Given the description of an element on the screen output the (x, y) to click on. 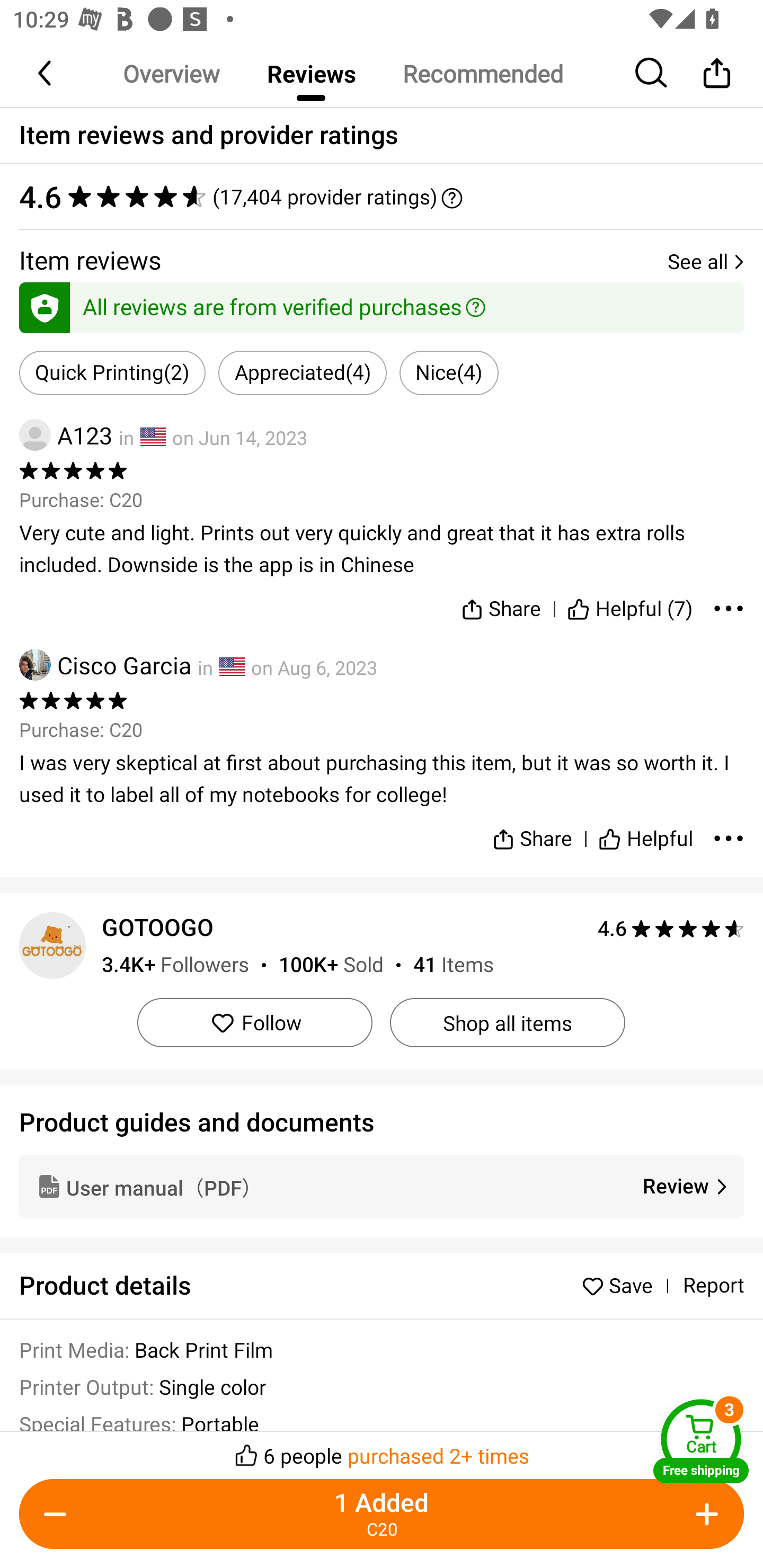
Overview (171, 72)
Reviews (311, 72)
Recommended (482, 72)
Back (46, 72)
Share (716, 72)
4.6 ‪(17,404 provider ratings) (381, 196)
All reviews are from verified purchases  (381, 303)
Quick Printing(2) (112, 373)
Appreciated(4) (302, 373)
Nice(4) (448, 373)
A123 (65, 434)
  Share (500, 605)
  Helpful (7) (629, 605)
Cisco Garcia (105, 664)
  Share (532, 830)
  Helpful (645, 830)
  Follow (254, 1022)
Shop all items (506, 1022)
User manual（PDF） Review (381, 1186)
Report (712, 1285)
 Save (621, 1285)
Cart Free shipping Cart (701, 1440)
￼￼6 people purchased 2+ times (381, 1450)
Decrease Quantity Button (59, 1513)
Add Quantity button (703, 1513)
